Given the description of an element on the screen output the (x, y) to click on. 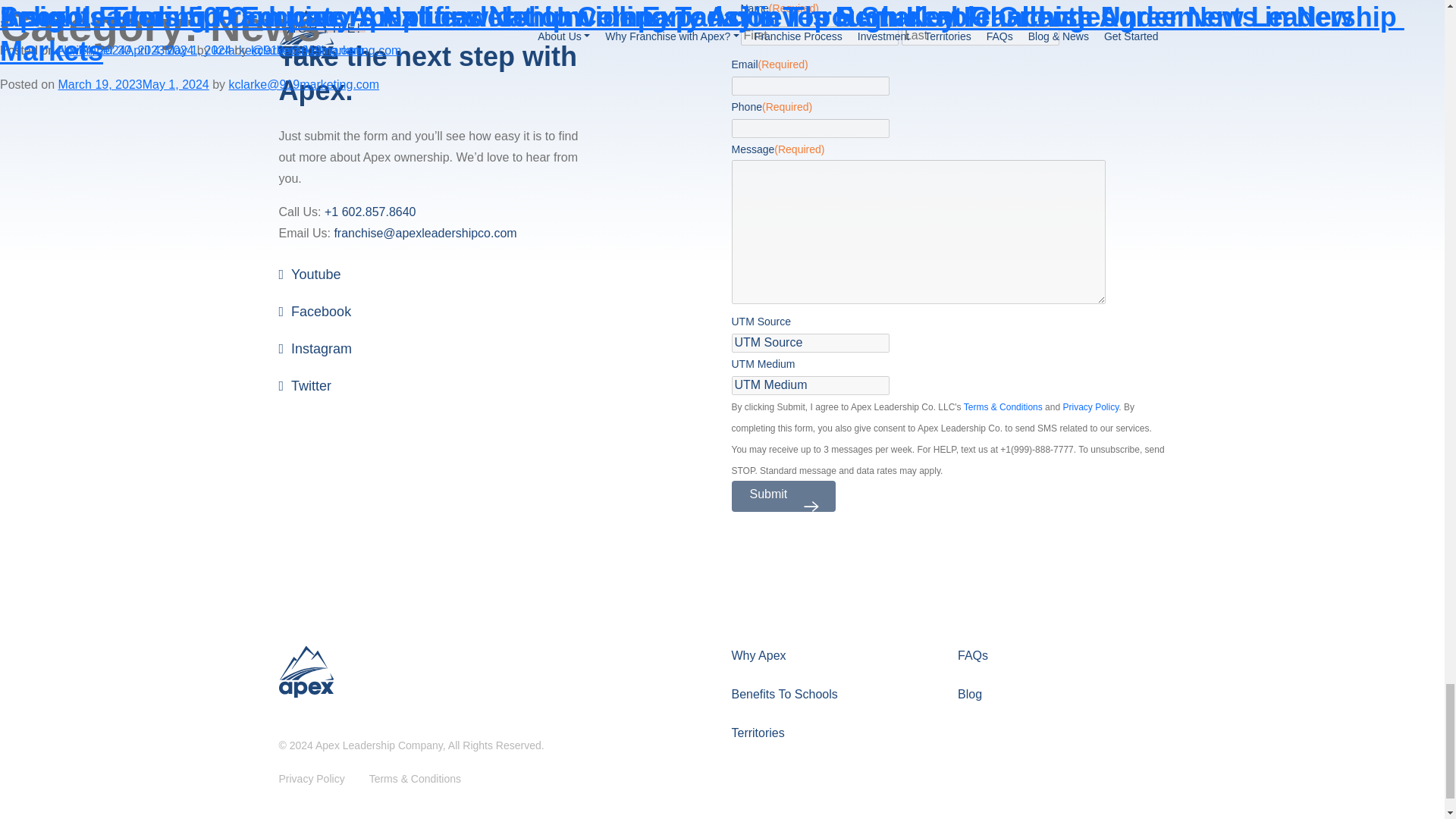
UTM Source (809, 342)
Submit (782, 495)
UTM Medium (809, 384)
